Given the description of an element on the screen output the (x, y) to click on. 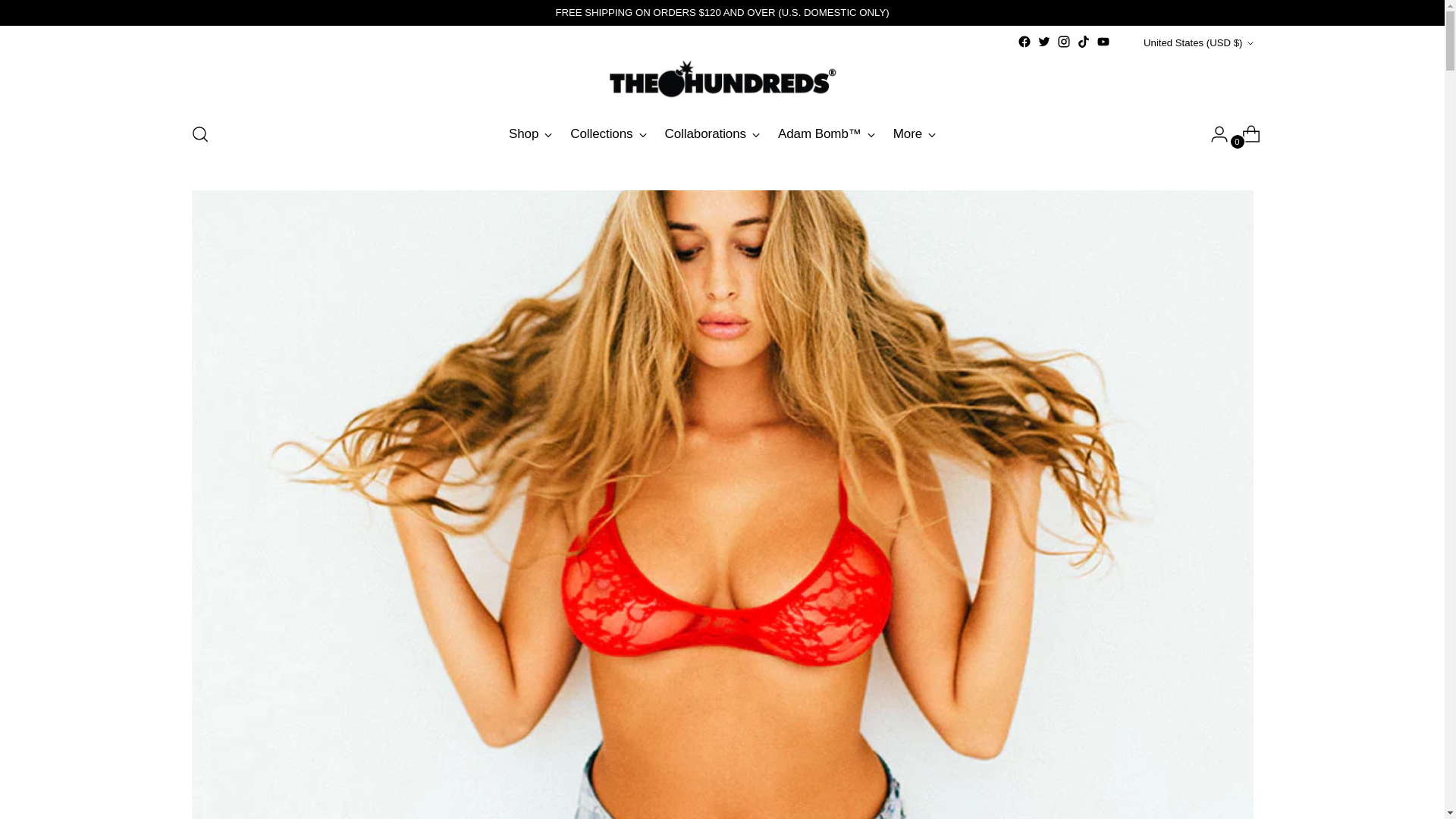
The Hundreds on YouTube (1102, 41)
The Hundreds on Facebook (1023, 41)
The Hundreds on Twitter (1043, 41)
The Hundreds on Tiktok (1083, 41)
The Hundreds on Instagram (1063, 41)
